Given the description of an element on the screen output the (x, y) to click on. 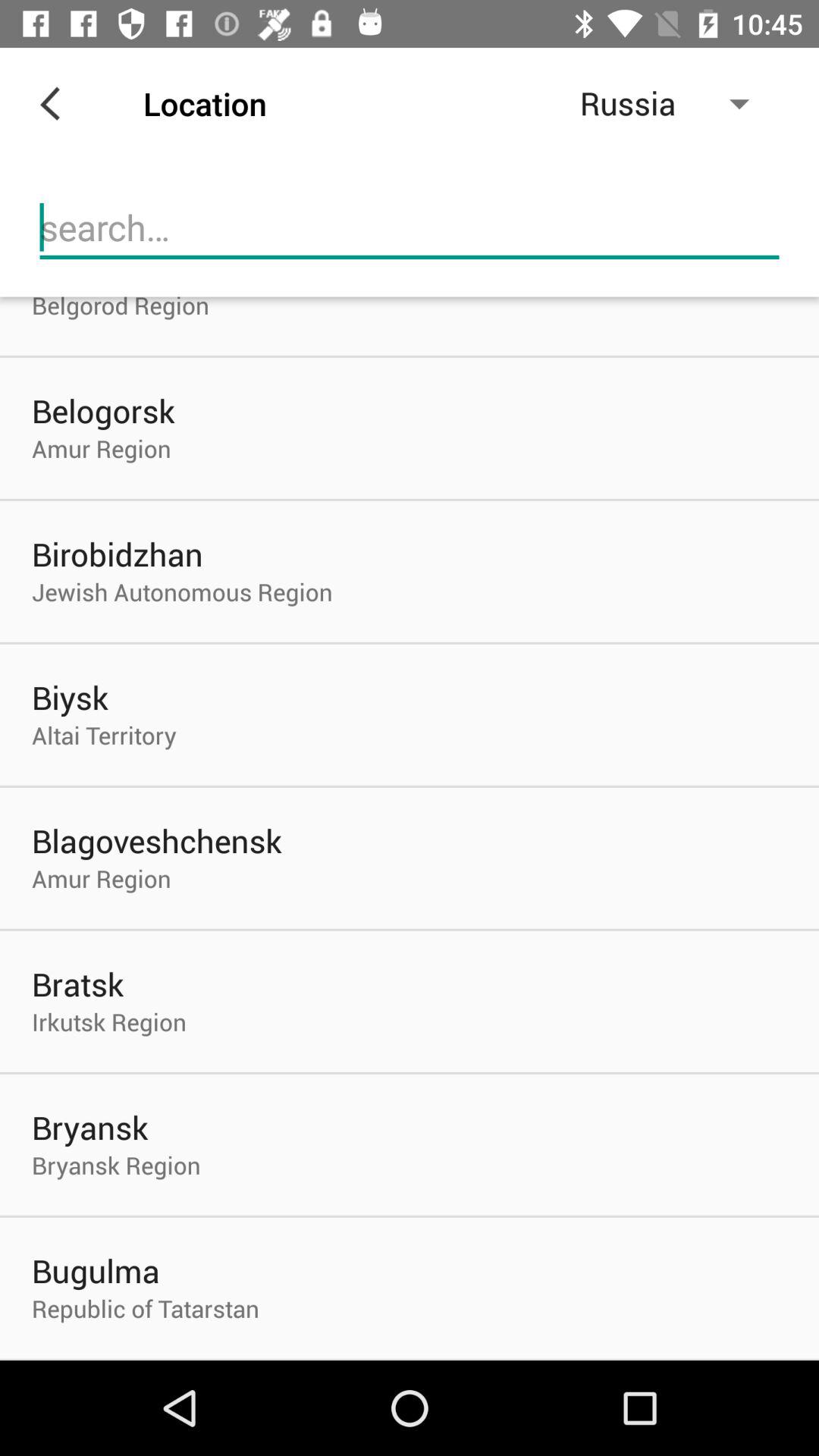
use the search function (409, 228)
